Given the description of an element on the screen output the (x, y) to click on. 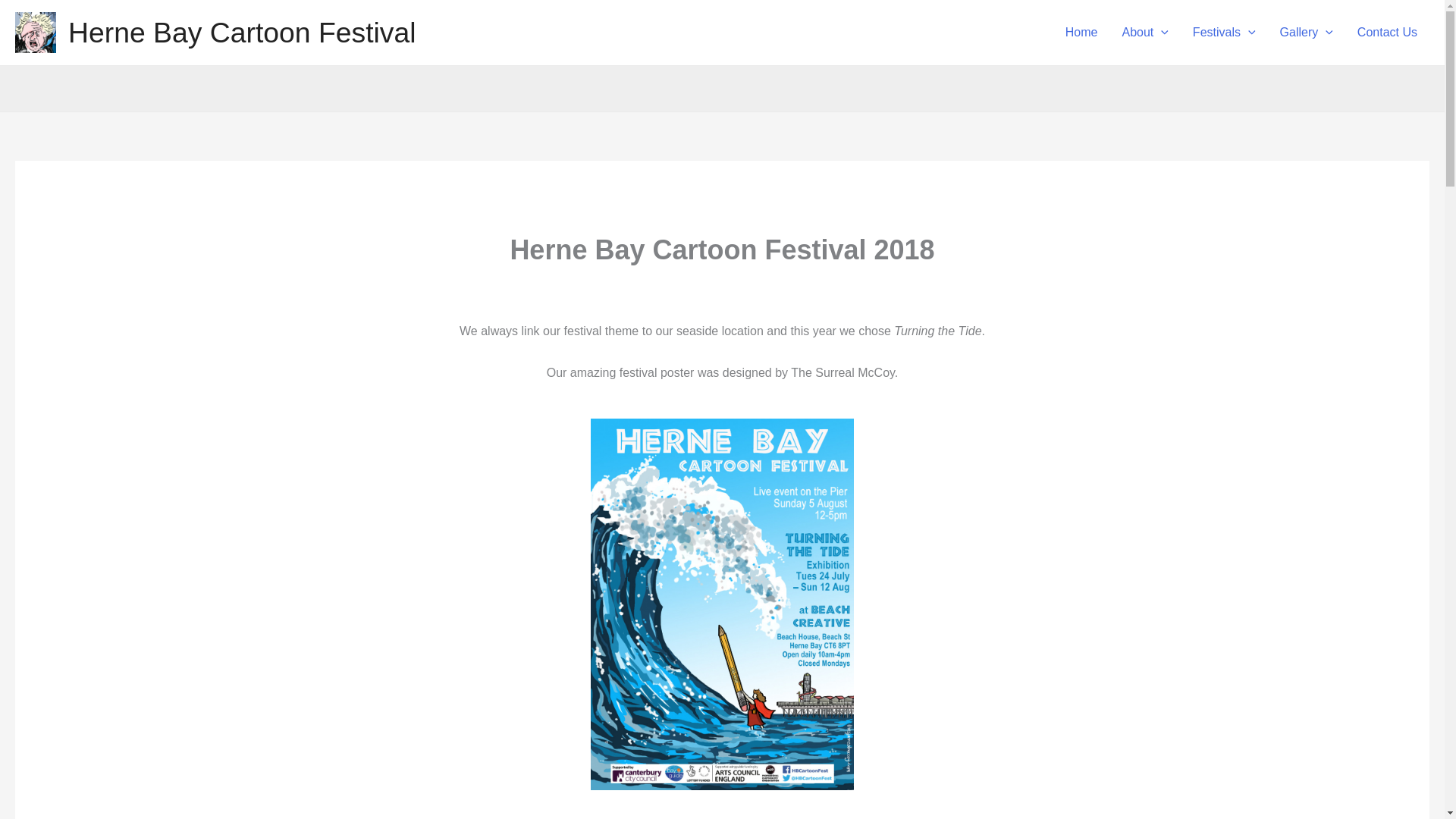
Herne Bay Cartoon Festival (242, 32)
Contact Us (1387, 31)
Gallery (1306, 31)
Home (1080, 31)
Festivals (1224, 31)
About (1144, 31)
